Given the description of an element on the screen output the (x, y) to click on. 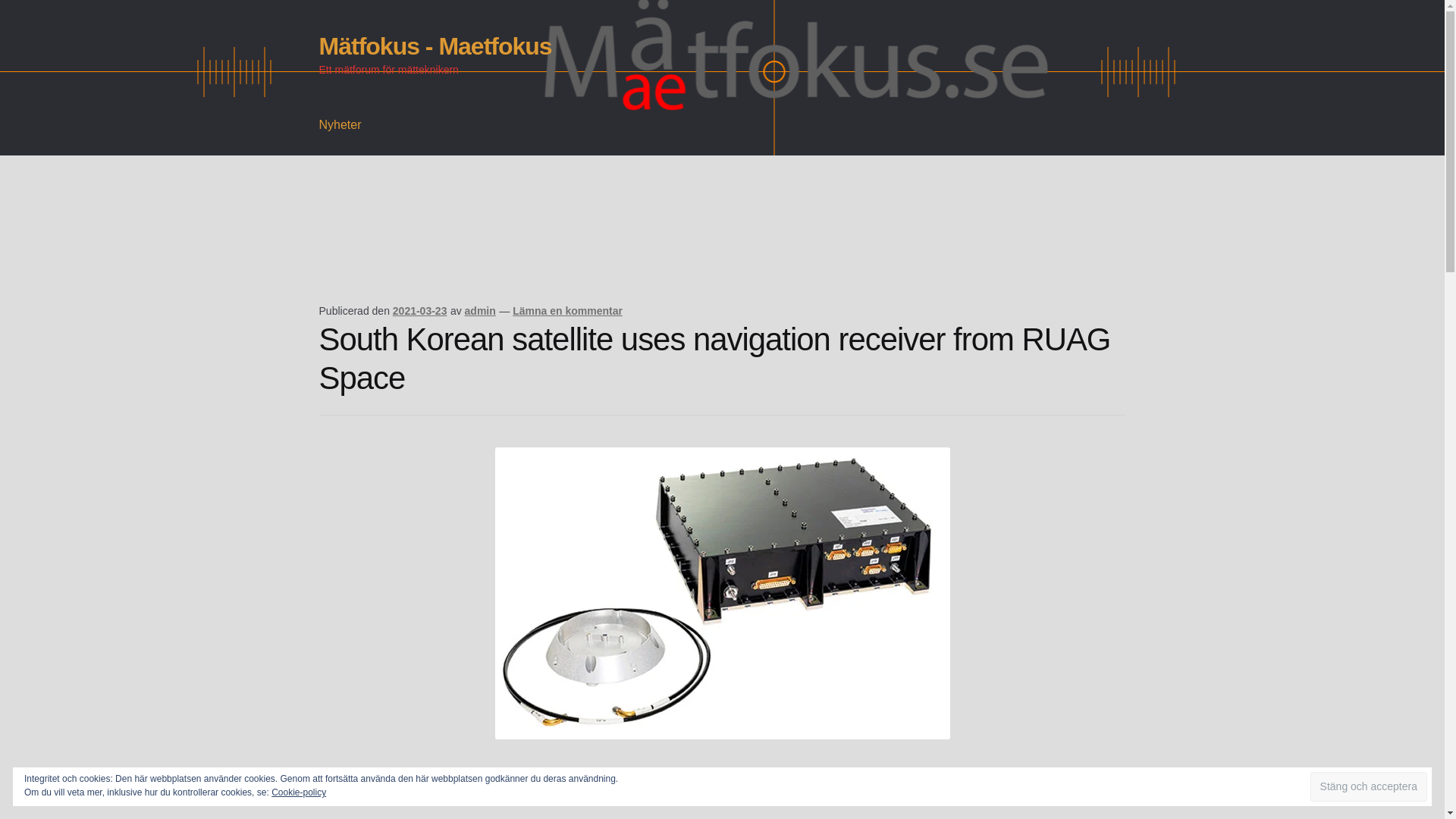
2021-03-23 (419, 310)
admin (480, 310)
Nyheter (340, 124)
Advertisement (594, 251)
Cookie-policy (298, 792)
